Given the description of an element on the screen output the (x, y) to click on. 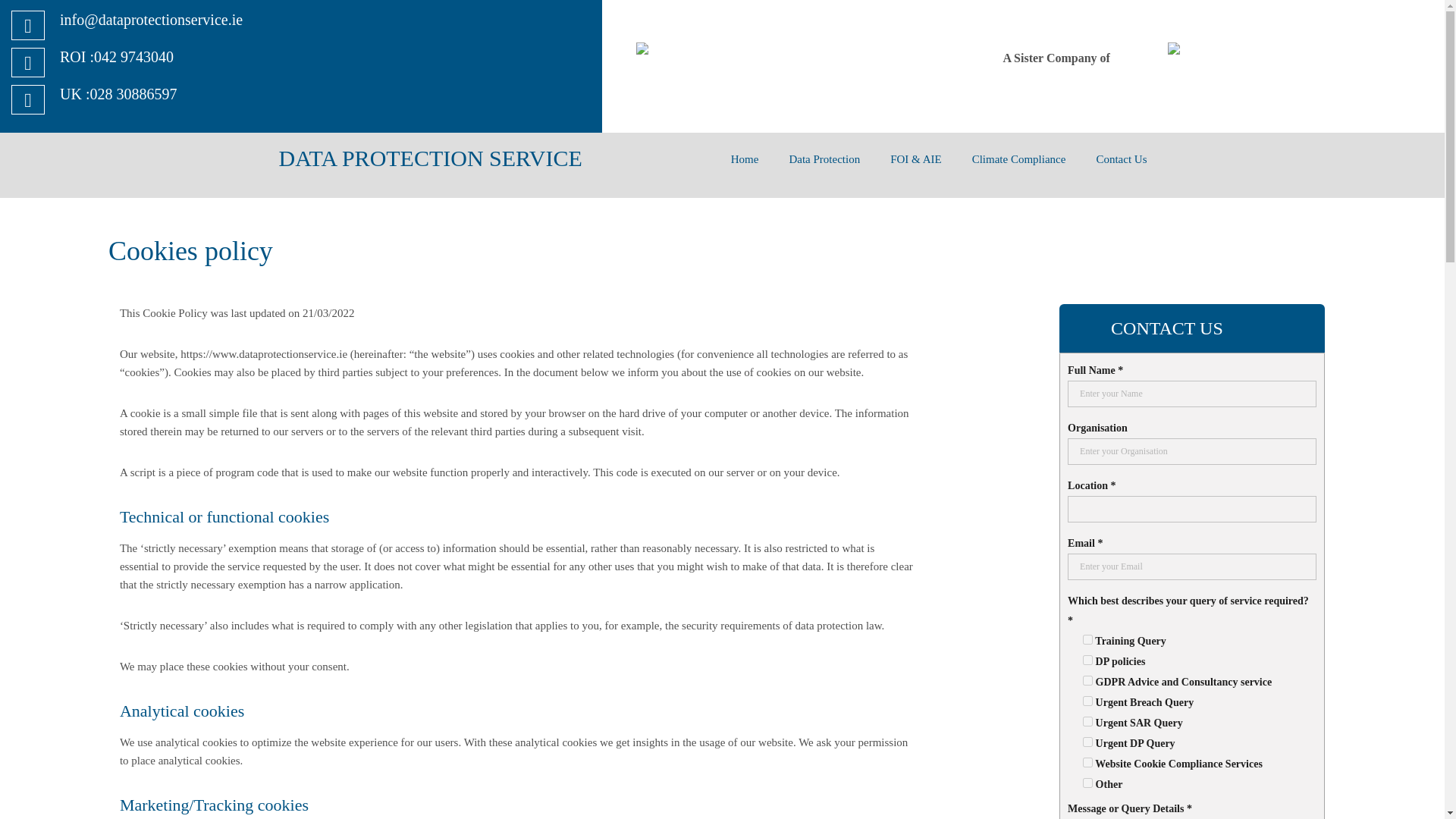
DP policies (1088, 660)
028 30886597 (132, 93)
DATA PROTECTION SERVICE (430, 157)
Urgent SAR Query (1088, 721)
Data Protection (823, 157)
Urgent DP Query (1088, 741)
Other (1088, 782)
Contact Us (1120, 157)
Urgent Breach Query (1088, 700)
042 9743040 (133, 56)
Training Query (1088, 639)
Website Cookie Compliance Services (1088, 762)
GDPR Advice and Consultancy service (1088, 680)
Climate Compliance (1018, 157)
Home (744, 157)
